Given the description of an element on the screen output the (x, y) to click on. 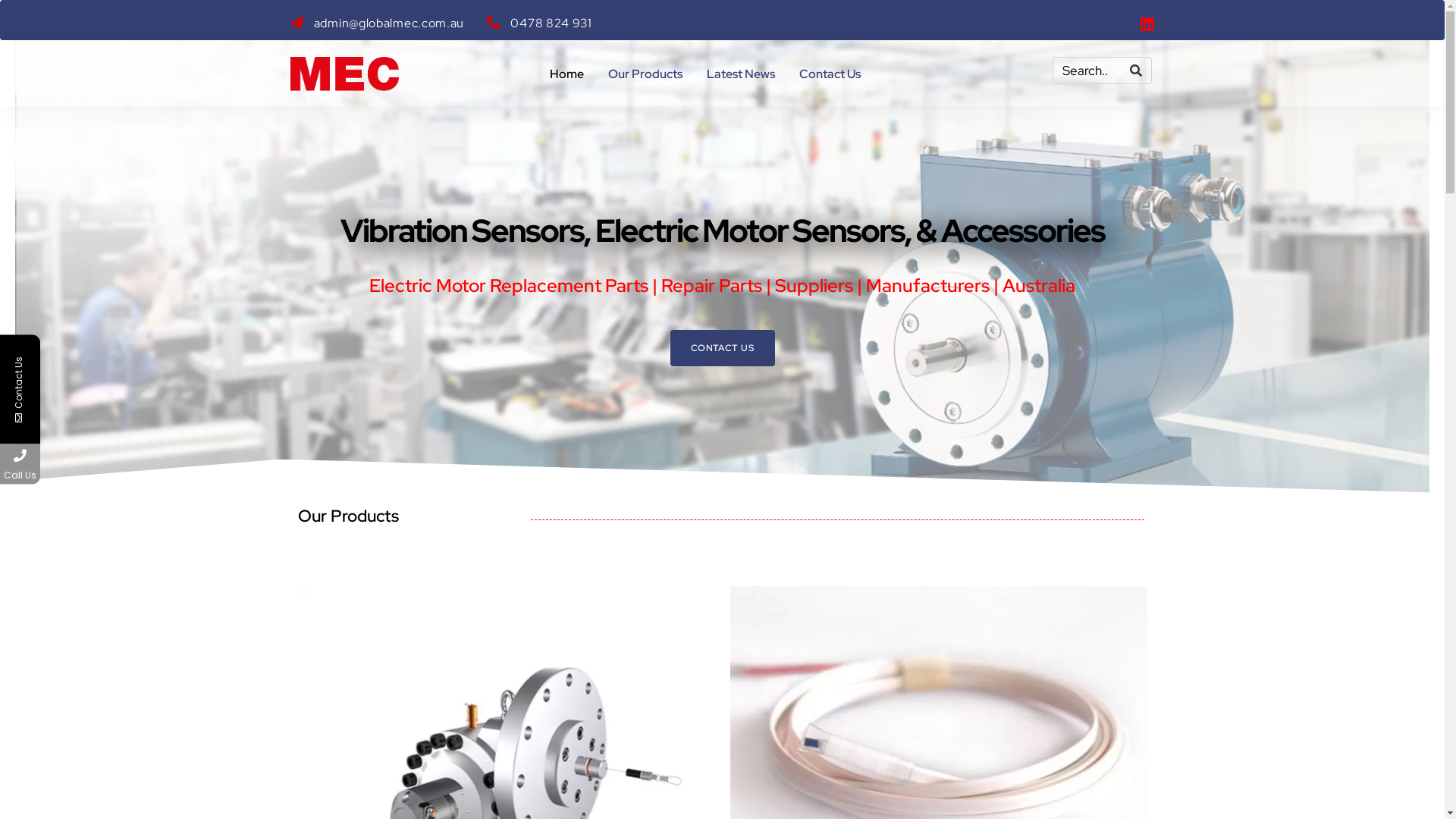
0478 824 931 Element type: text (539, 23)
Latest News Element type: text (740, 73)
Home Element type: text (566, 73)
0478 824 931 Element type: text (92, 464)
Call Us Element type: text (20, 464)
Contact Us Element type: text (829, 73)
admin@globalmec.com.au Element type: text (376, 23)
CONTACT US Element type: text (722, 347)
Our Products Element type: text (645, 73)
Submit Element type: text (196, 643)
